Given the description of an element on the screen output the (x, y) to click on. 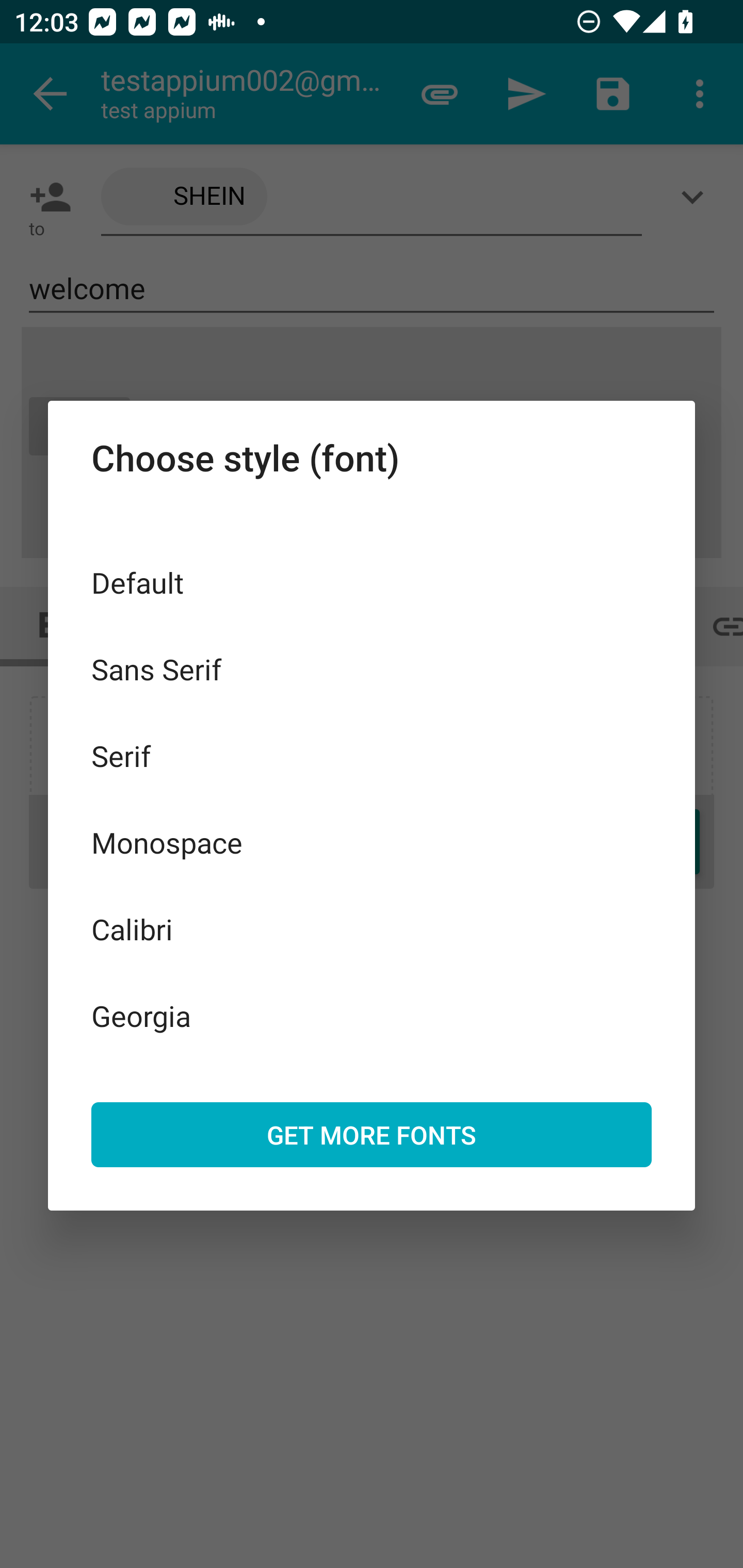
Default (371, 582)
Sans Serif (371, 668)
Serif (371, 755)
Monospace (371, 842)
Calibri (371, 928)
Georgia (371, 1015)
GET MORE FONTS (371, 1134)
